Given the description of an element on the screen output the (x, y) to click on. 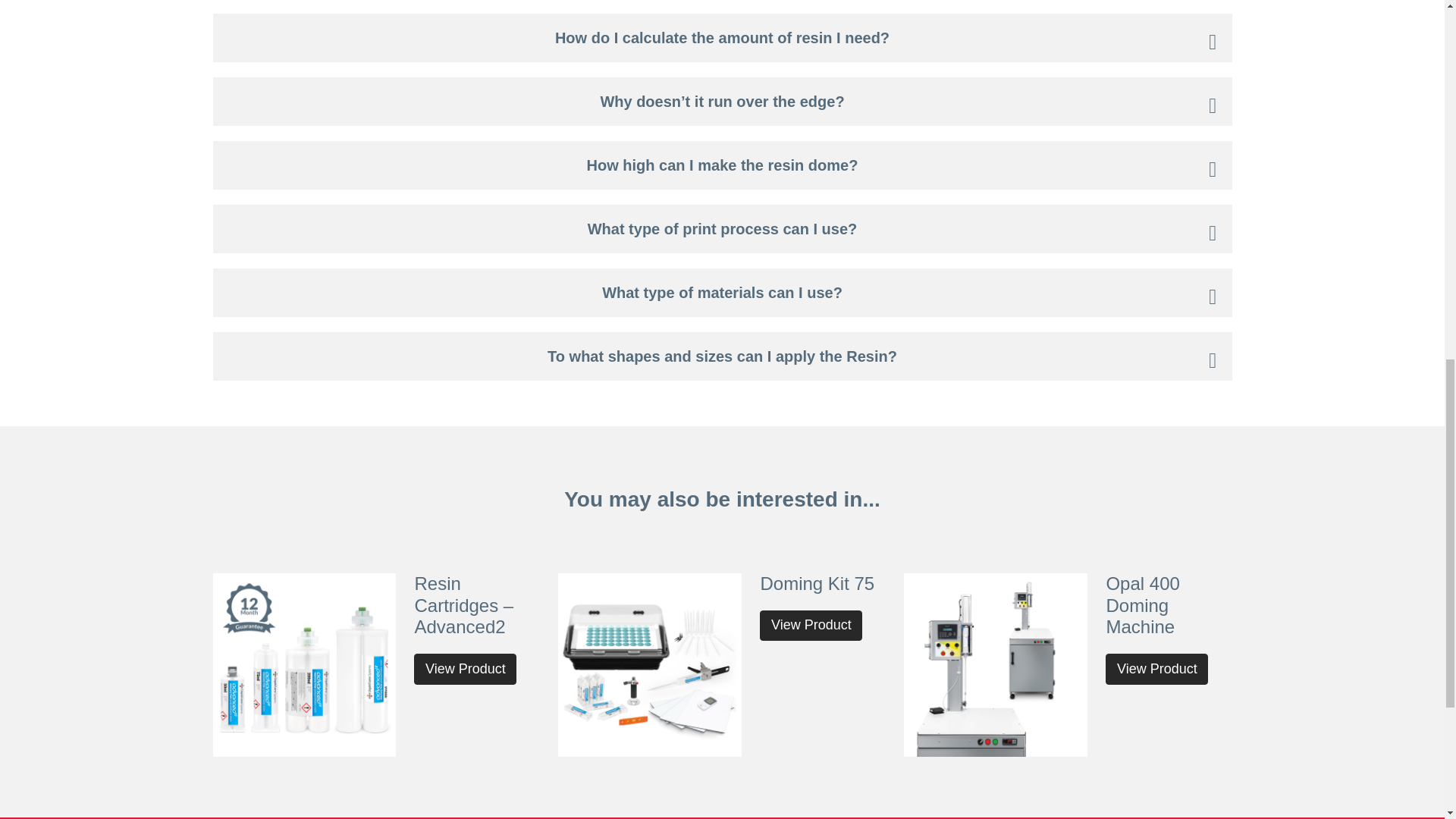
View Product (810, 625)
View Product (464, 668)
Doming Kit 75 (817, 583)
Opal 400 Doming Machine (1142, 605)
View Product (1156, 668)
